Given the description of an element on the screen output the (x, y) to click on. 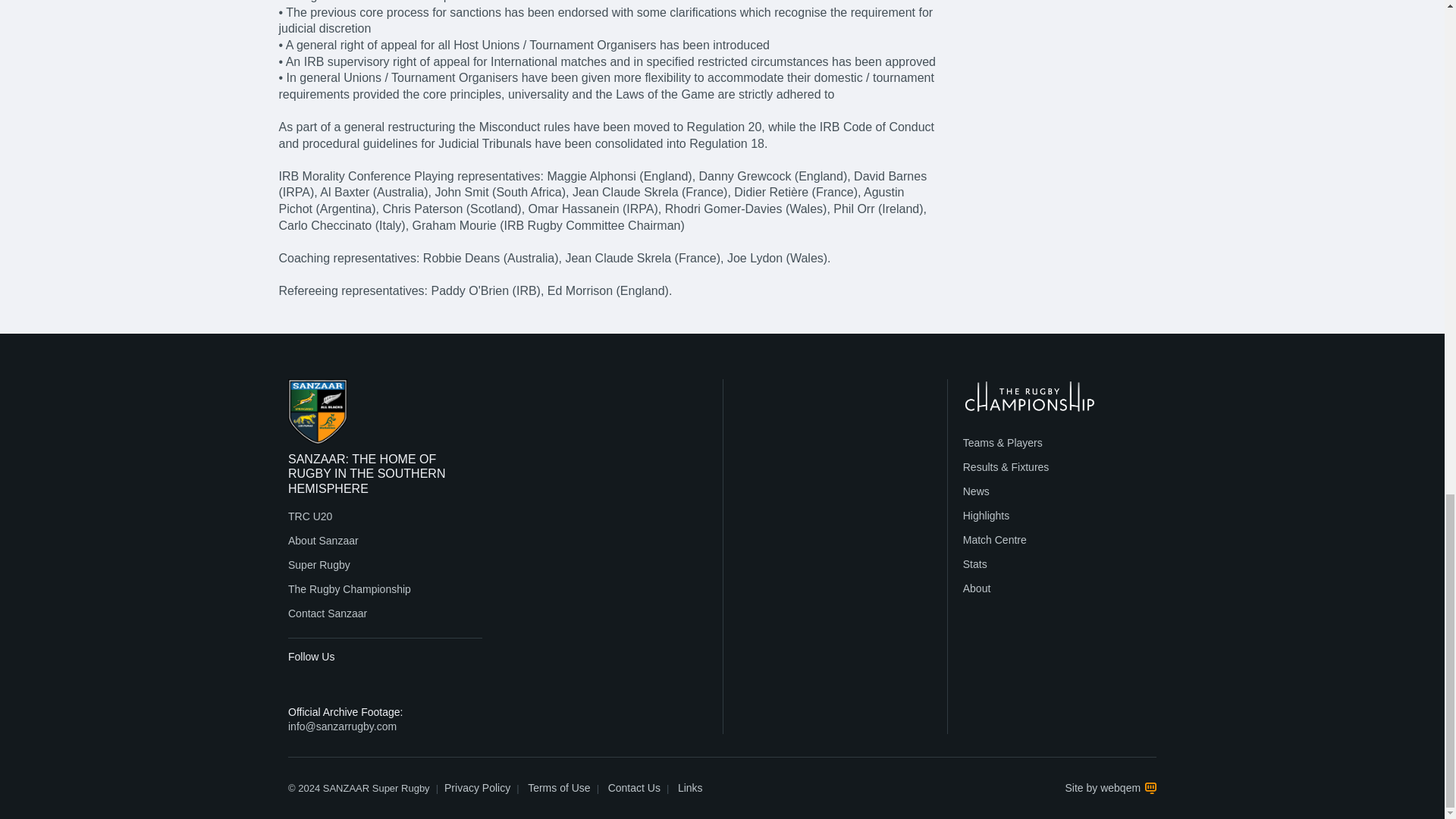
About (976, 588)
Super Rugby (319, 564)
Terms of Use (558, 788)
Contact Us (634, 788)
Stats (974, 563)
TRC U20 (309, 516)
Links (690, 788)
Site by webqem (1110, 788)
News (976, 491)
Contact Sanzaar (327, 613)
Privacy Policy (477, 788)
Match Centre (994, 539)
Highlights (985, 515)
About Sanzaar (323, 540)
The Rugby Championship (349, 589)
